Given the description of an element on the screen output the (x, y) to click on. 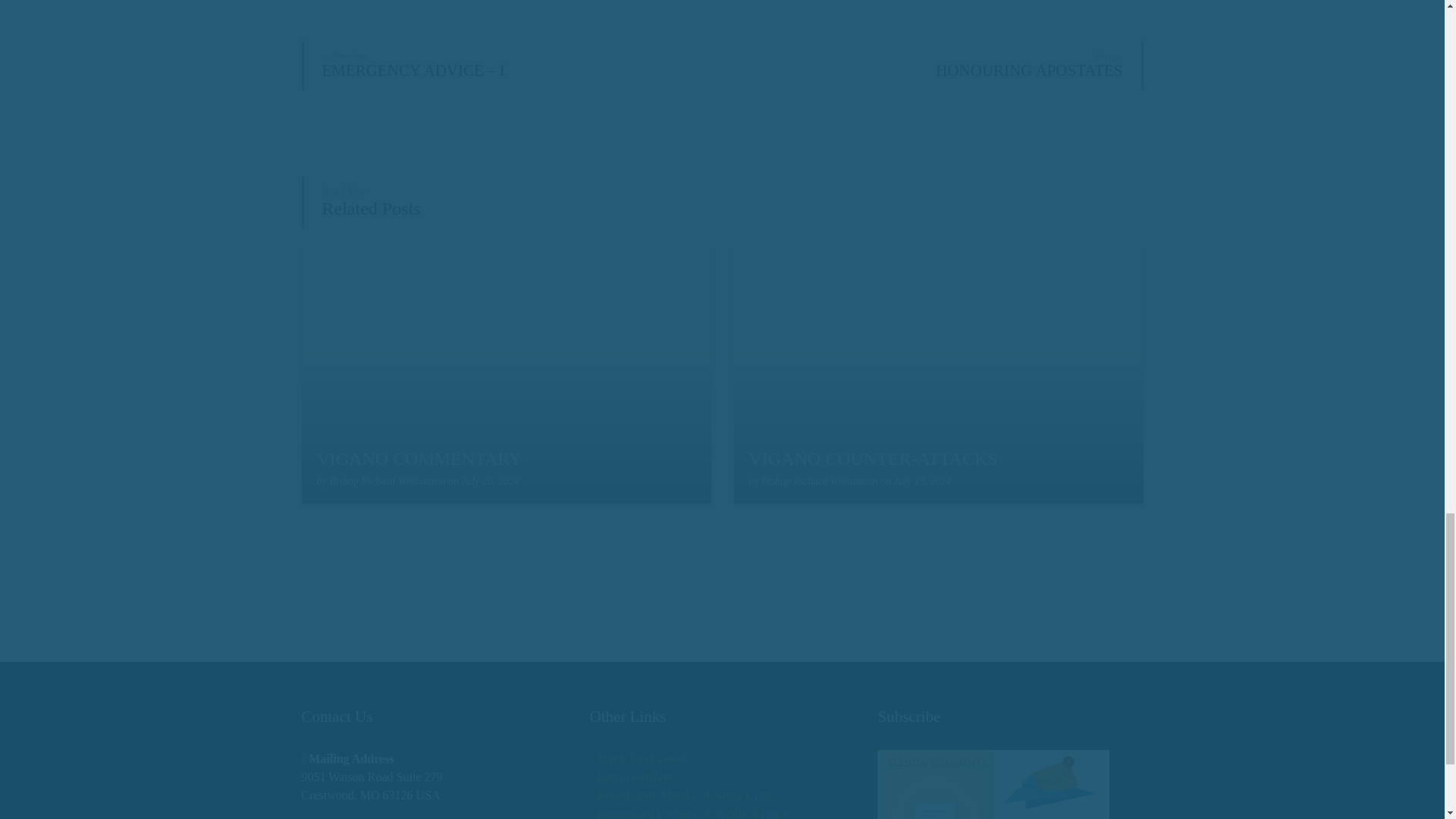
VIGANO COMMENTARY (419, 458)
Bishop Richard Williamson (387, 480)
